Given the description of an element on the screen output the (x, y) to click on. 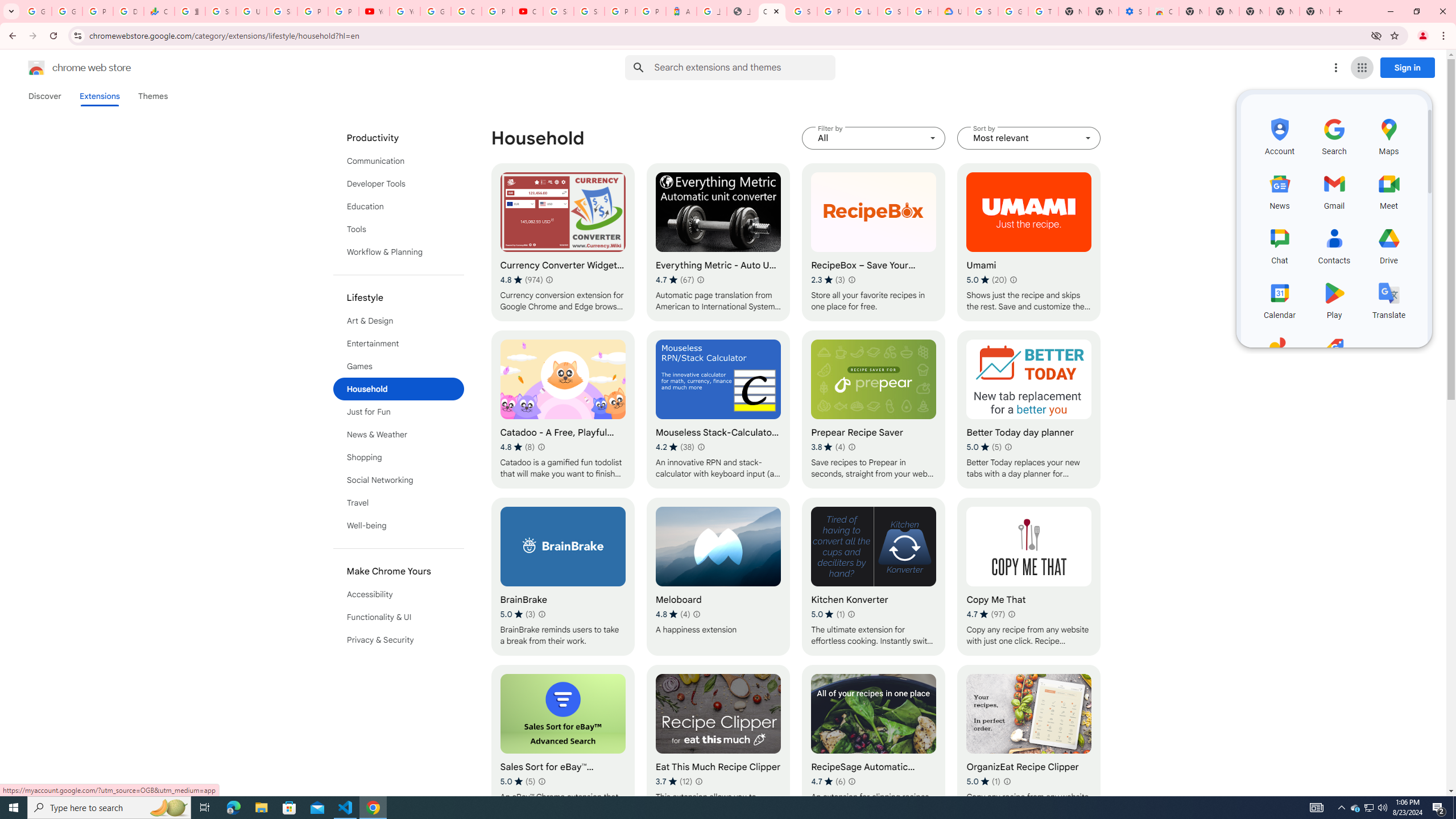
Education (398, 205)
Well-being (398, 525)
Games (398, 365)
Discover (43, 95)
Learn more about results and reviews "Kitchen Konverter" (850, 613)
